Given the description of an element on the screen output the (x, y) to click on. 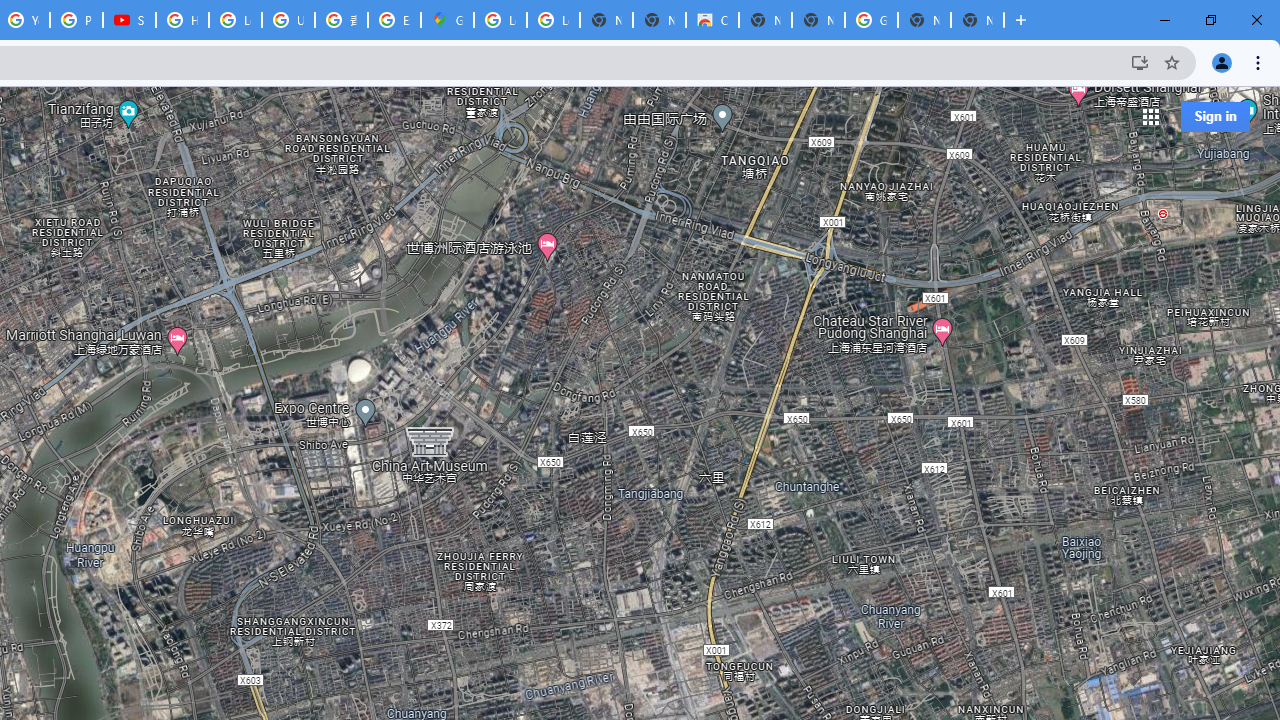
Google Images (871, 20)
How Chrome protects your passwords - Google Chrome Help (182, 20)
Subscriptions - YouTube (129, 20)
